Given the description of an element on the screen output the (x, y) to click on. 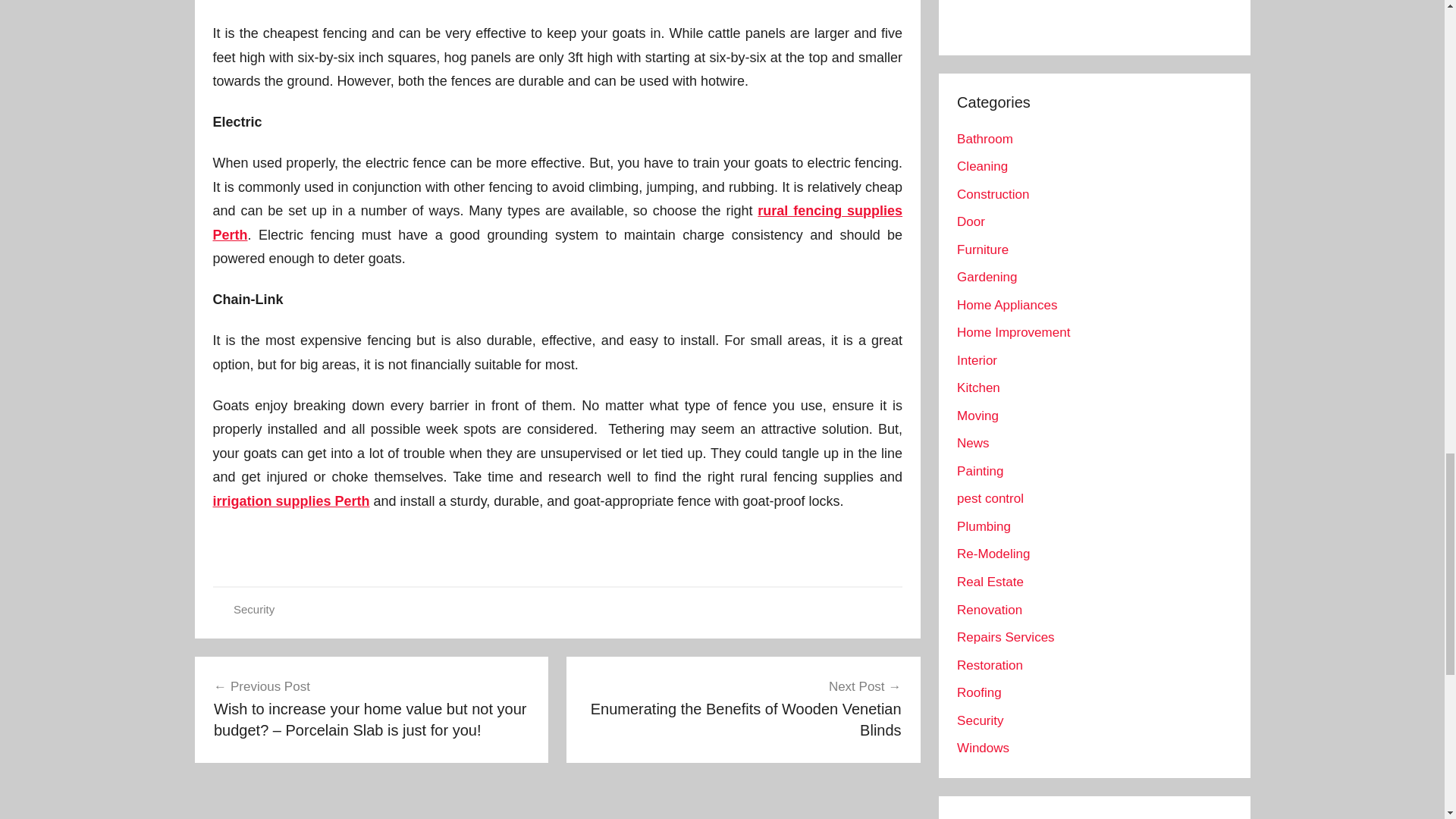
Security (253, 608)
rural fencing supplies Perth (557, 222)
Bathroom (984, 138)
irrigation supplies Perth (743, 708)
Advertisement (290, 500)
Cleaning (1083, 6)
Construction (981, 165)
